Given the description of an element on the screen output the (x, y) to click on. 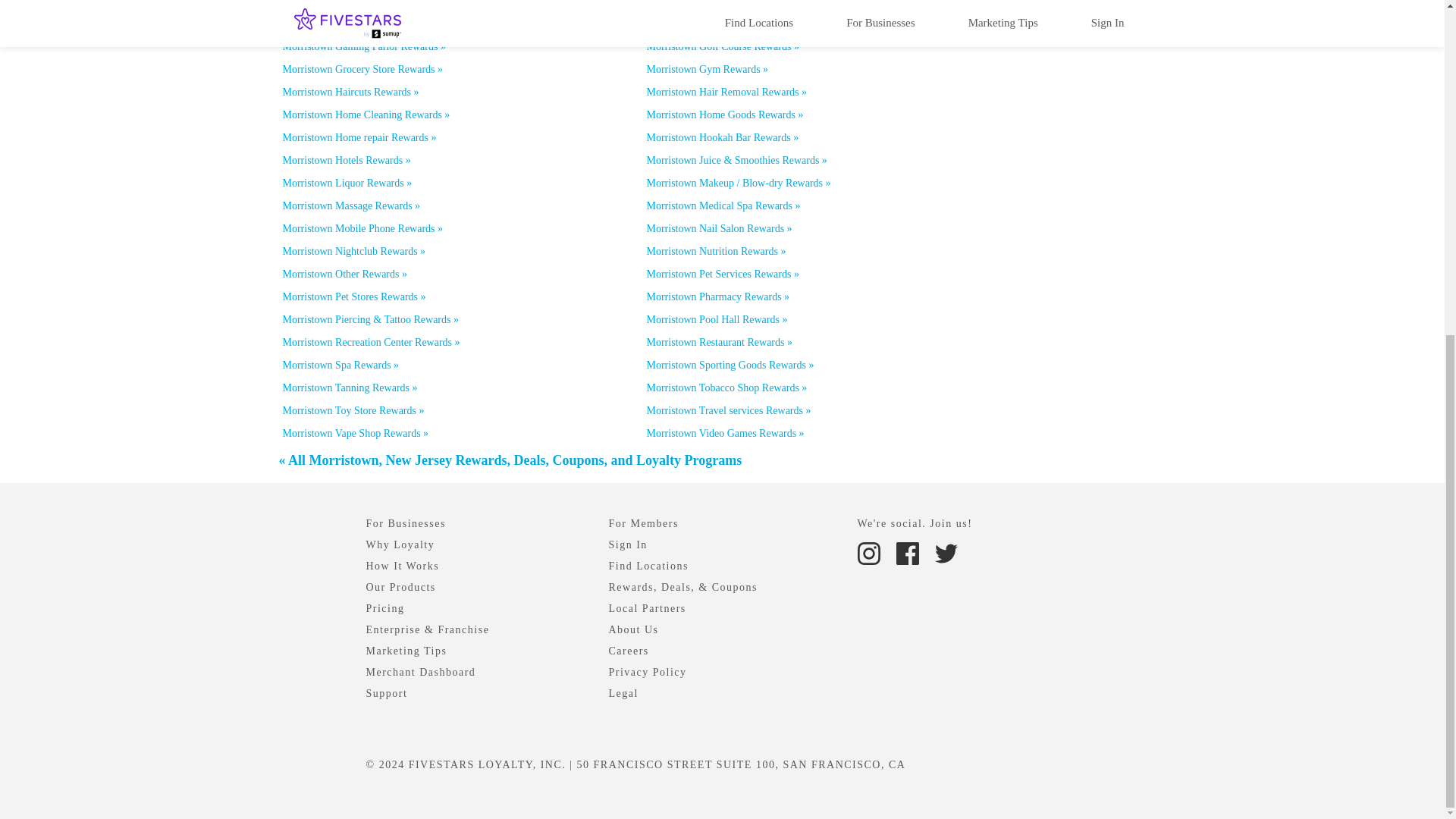
Fivestars Facebook (908, 552)
Merchant Dashboard and Analytics (420, 672)
Fivestars Facebook (907, 553)
Find Locations (647, 565)
Support and Customer Service (386, 693)
Fivestars Instagram (868, 553)
Marketing Tips and Blog (405, 650)
Fivestars Twitter (945, 552)
Fivestars Twitter (945, 553)
Fivestars Instagram (869, 552)
